Given the description of an element on the screen output the (x, y) to click on. 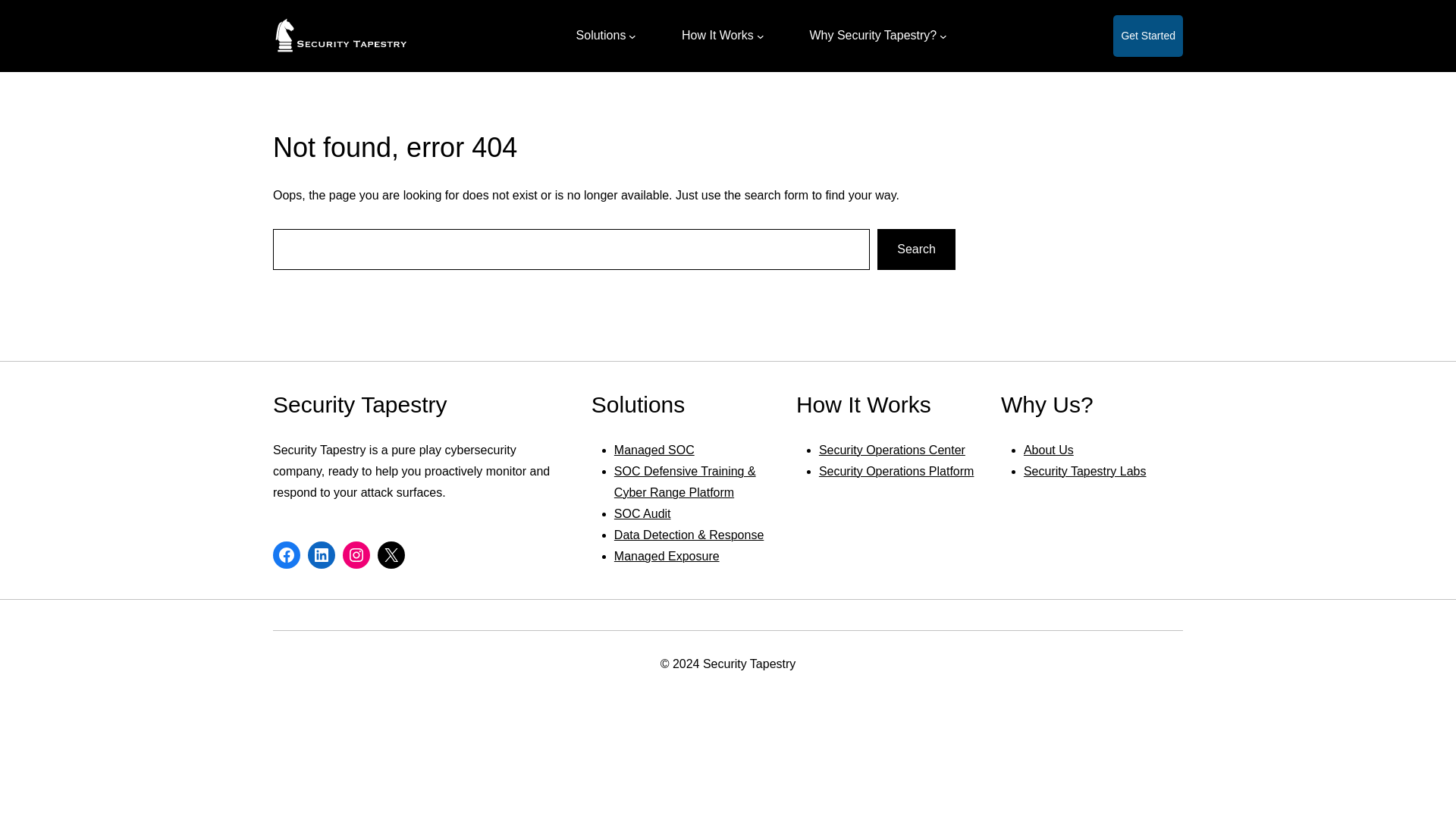
How It Works (717, 35)
Security Operations Platform (896, 471)
Solutions (601, 35)
Why Security Tapestry? (872, 35)
X (390, 554)
Managed Exposure (666, 555)
Managed SOC (654, 449)
Security Operations Center (891, 449)
Search (916, 249)
Facebook (286, 554)
SOC Audit (642, 513)
Instagram (355, 554)
About Us (1048, 449)
Get Started (1147, 35)
Security Tapestry Labs (1085, 471)
